Given the description of an element on the screen output the (x, y) to click on. 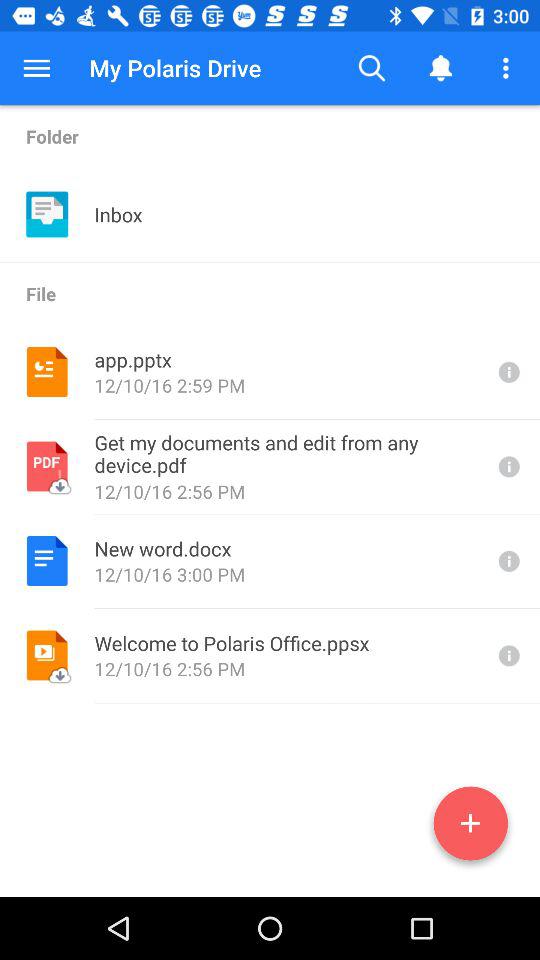
details on file (507, 466)
